Given the description of an element on the screen output the (x, y) to click on. 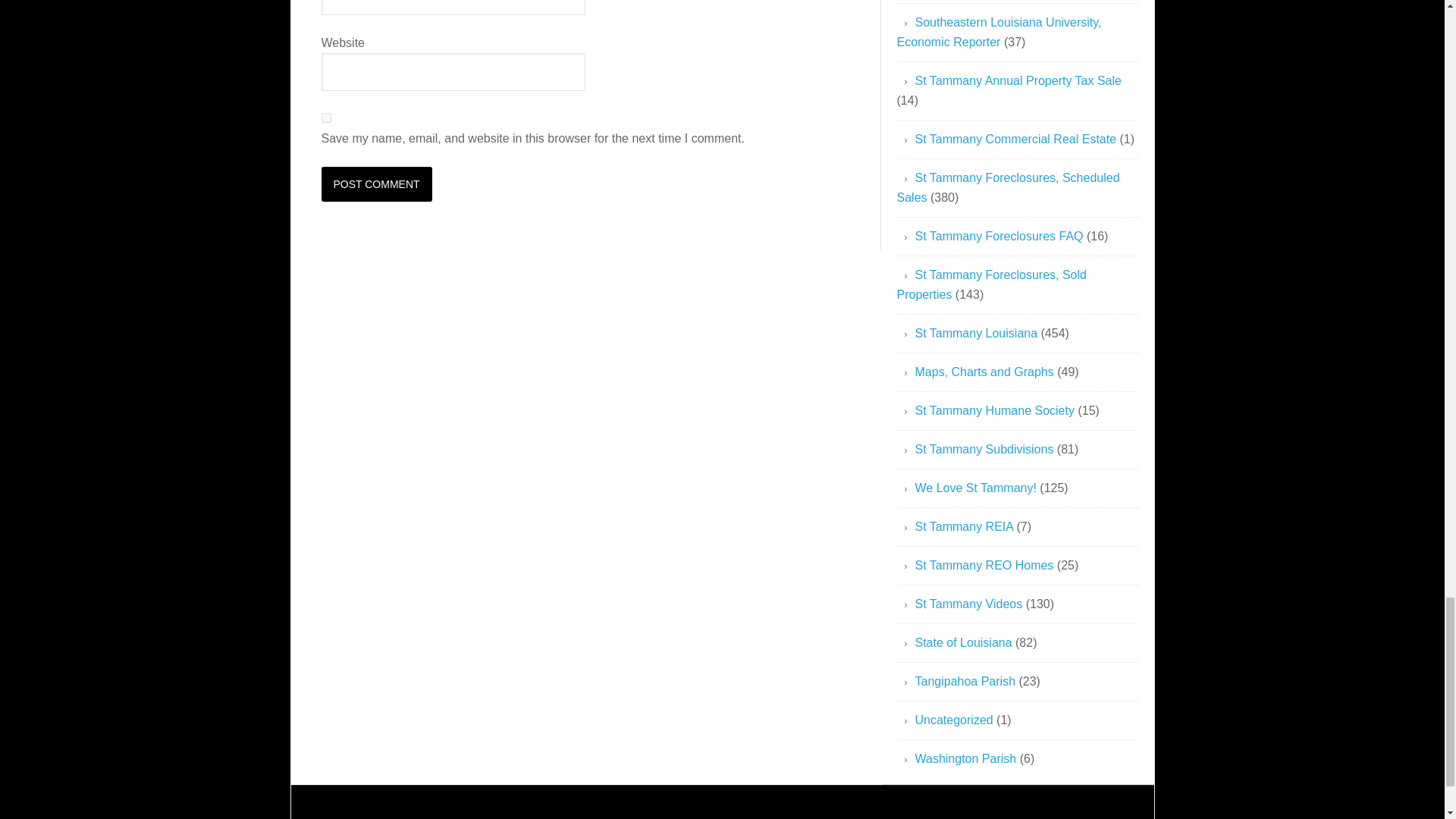
Post Comment (376, 184)
yes (326, 117)
Post Comment (376, 184)
